Given the description of an element on the screen output the (x, y) to click on. 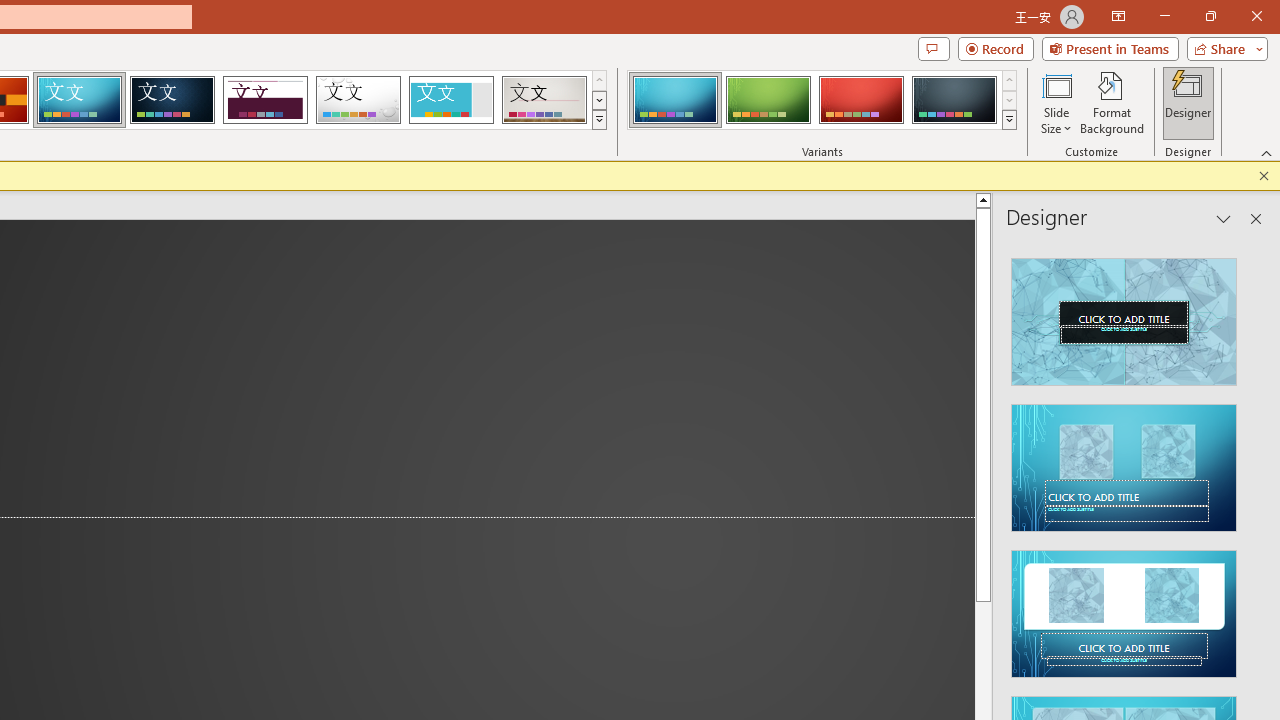
Collapse the Ribbon (1267, 152)
Recommended Design: Design Idea (1124, 315)
Gallery (544, 100)
Frame (450, 100)
Damask (171, 100)
Format Background (1111, 102)
Slide Size (1056, 102)
Row Down (1009, 100)
Droplet (358, 100)
Dividend (265, 100)
Close this message (1263, 176)
